Given the description of an element on the screen output the (x, y) to click on. 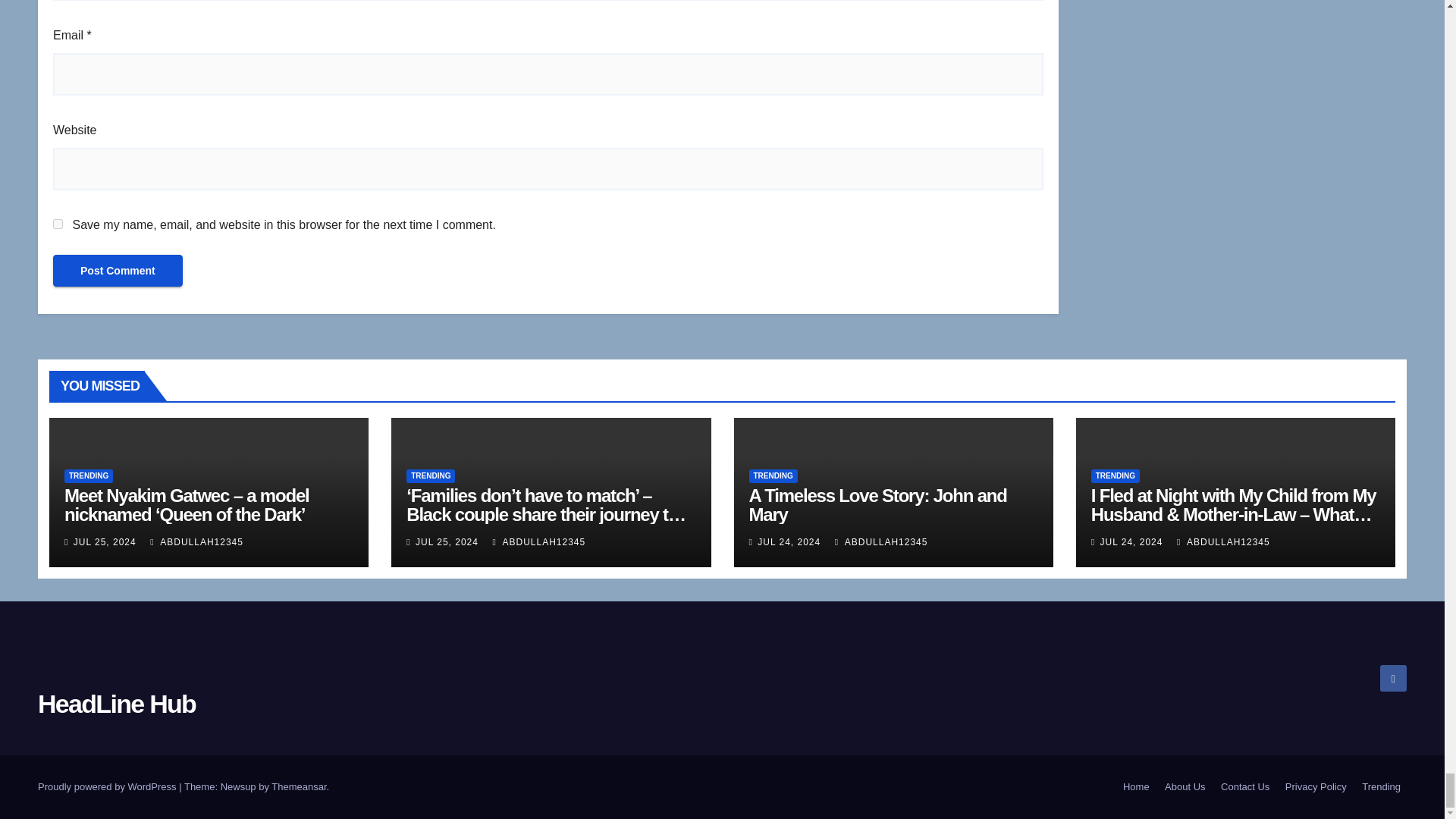
Post Comment (117, 270)
Permalink to: A Timeless Love Story: John and Mary (878, 504)
yes (57, 224)
